Given the description of an element on the screen output the (x, y) to click on. 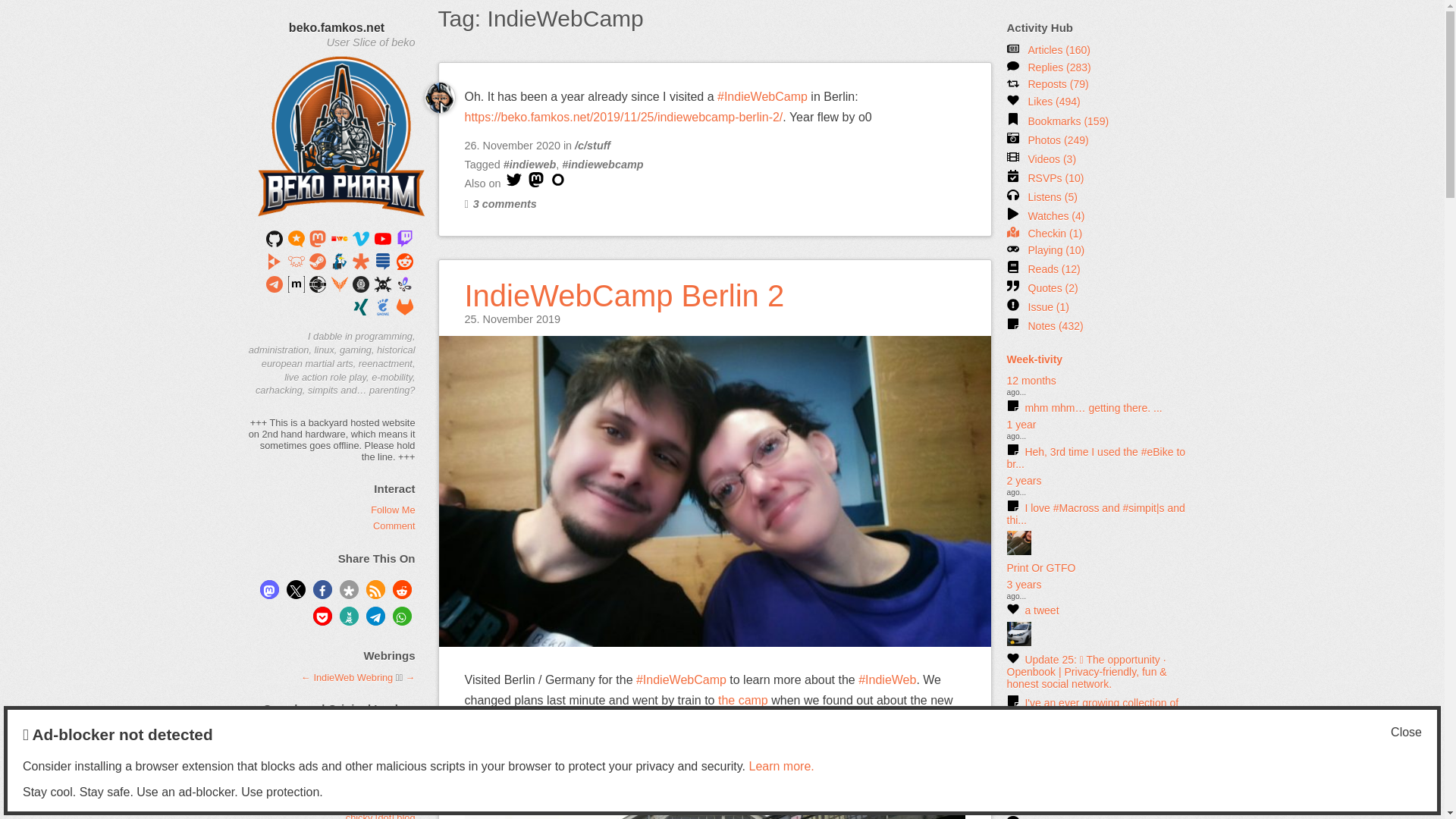
Twitter (513, 179)
Created by potrace 1.11, written by Peter Selinger 2001-2013 (557, 183)
IndieWebCamp Berlin 2 (624, 286)
12:11 (511, 318)
the camp (742, 699)
Main menu (321, 91)
Search (331, 753)
Twitter (513, 183)
Main menu (321, 91)
3 comments (499, 203)
13:12 (511, 145)
Permalink to IndieWebCamp Berlin 2 (624, 286)
Search (331, 753)
beko.famkos.net (336, 27)
